Given the description of an element on the screen output the (x, y) to click on. 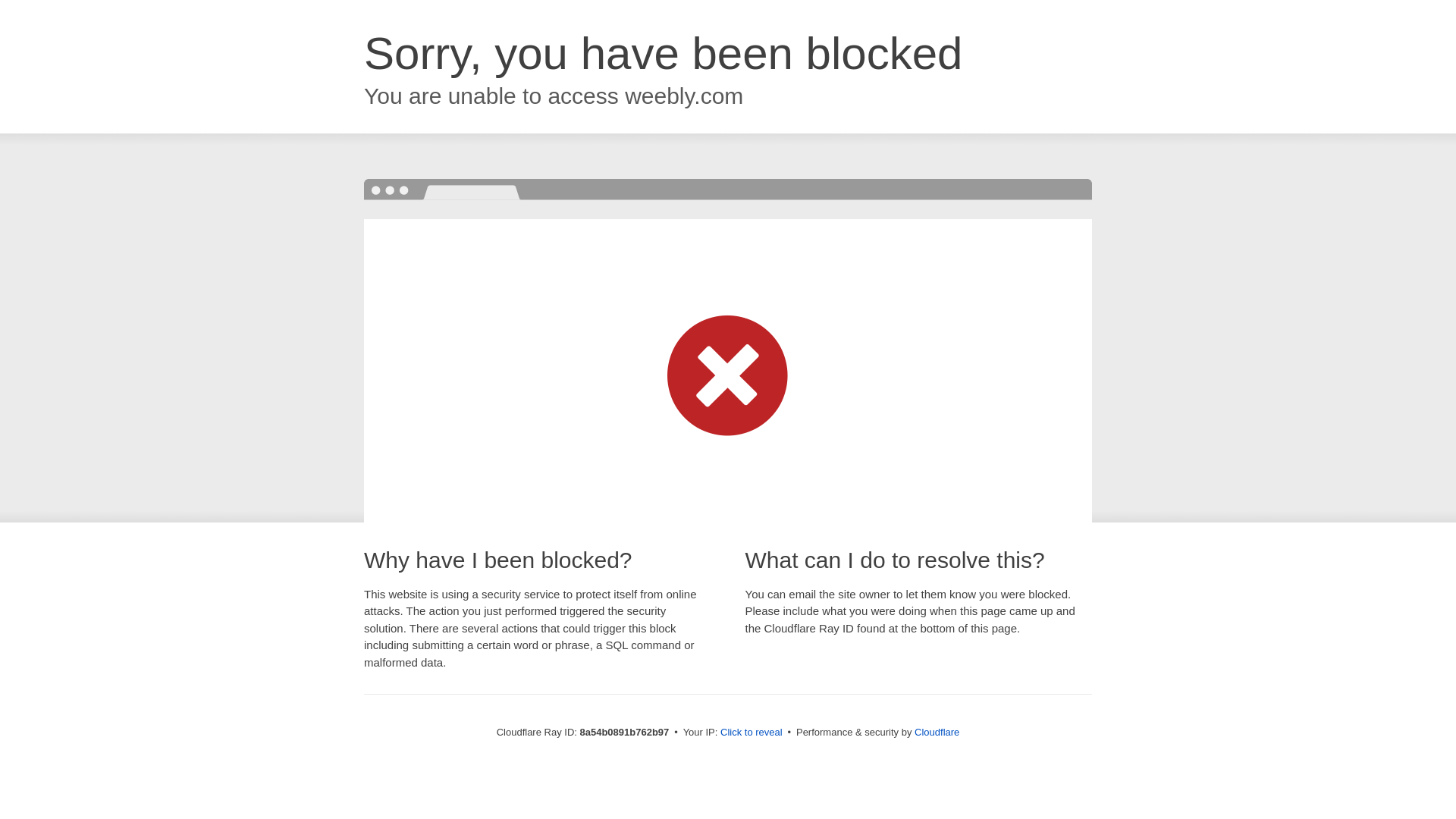
Cloudflare (936, 731)
Click to reveal (751, 732)
